Given the description of an element on the screen output the (x, y) to click on. 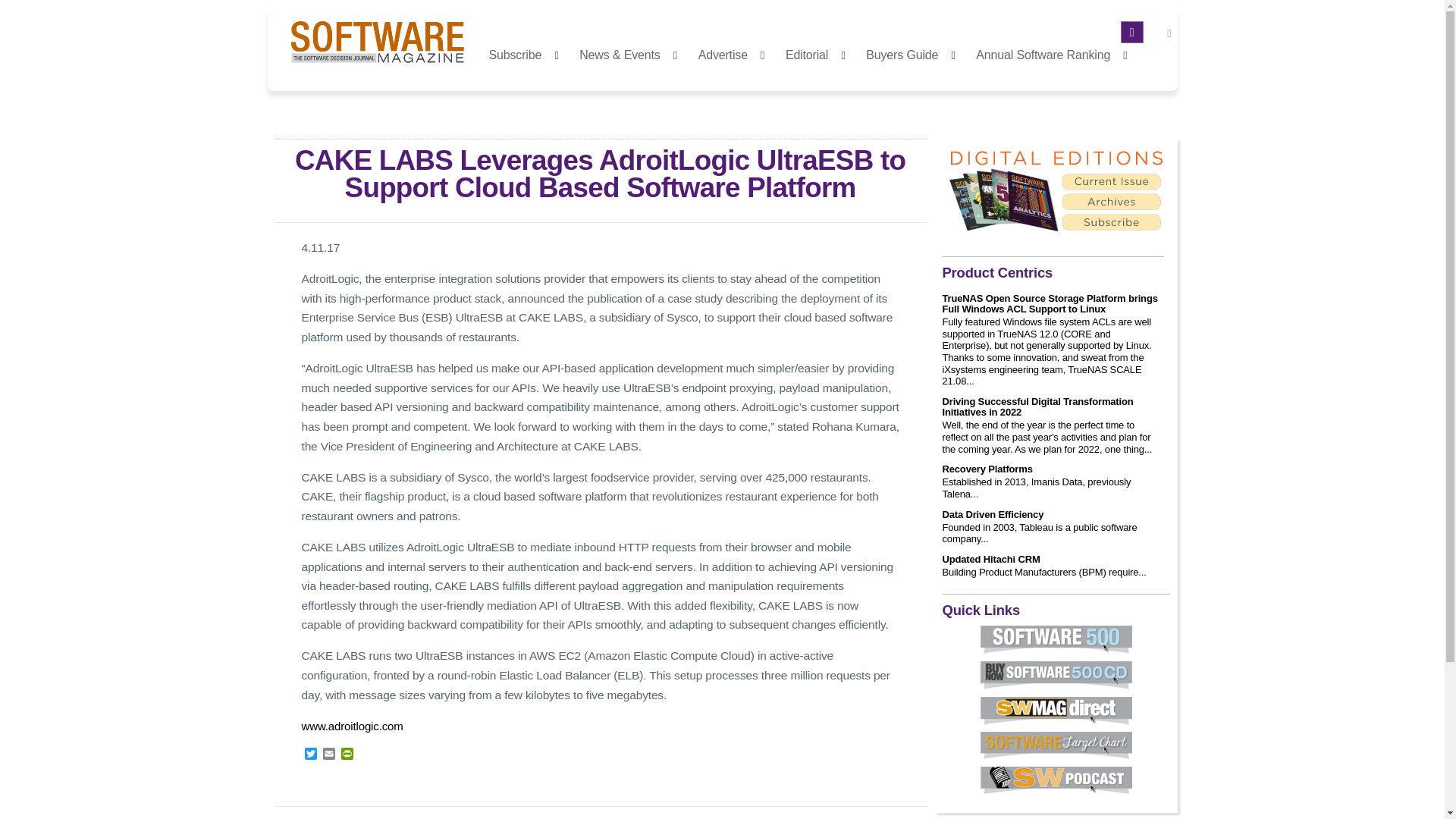
Email (328, 754)
www.adroitlogic.com (352, 725)
Email (328, 754)
Advertise (735, 53)
Twitter (310, 754)
Annual Software Ranking (1056, 53)
PrintFriendly (346, 754)
Recovery Platforms (987, 469)
Buyers Guide (915, 53)
Twitter (310, 754)
PrintFriendly (346, 754)
Editorial (819, 53)
Data Driven Efficiency (992, 514)
